Given the description of an element on the screen output the (x, y) to click on. 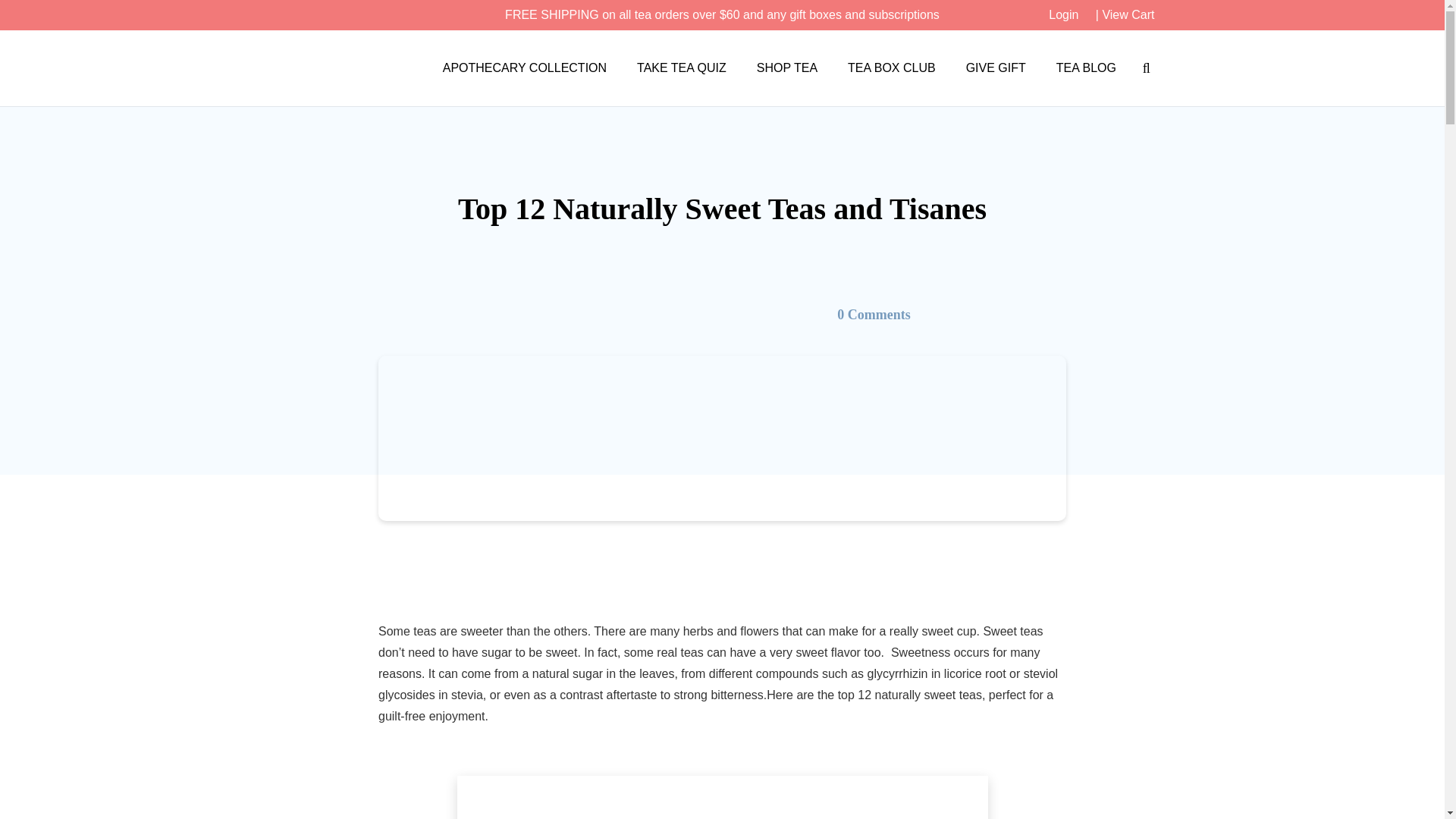
SHOP TEA (786, 67)
Login (1063, 14)
APOTHECARY COLLECTION (524, 67)
TAKE TEA QUIZ (681, 67)
